Given the description of an element on the screen output the (x, y) to click on. 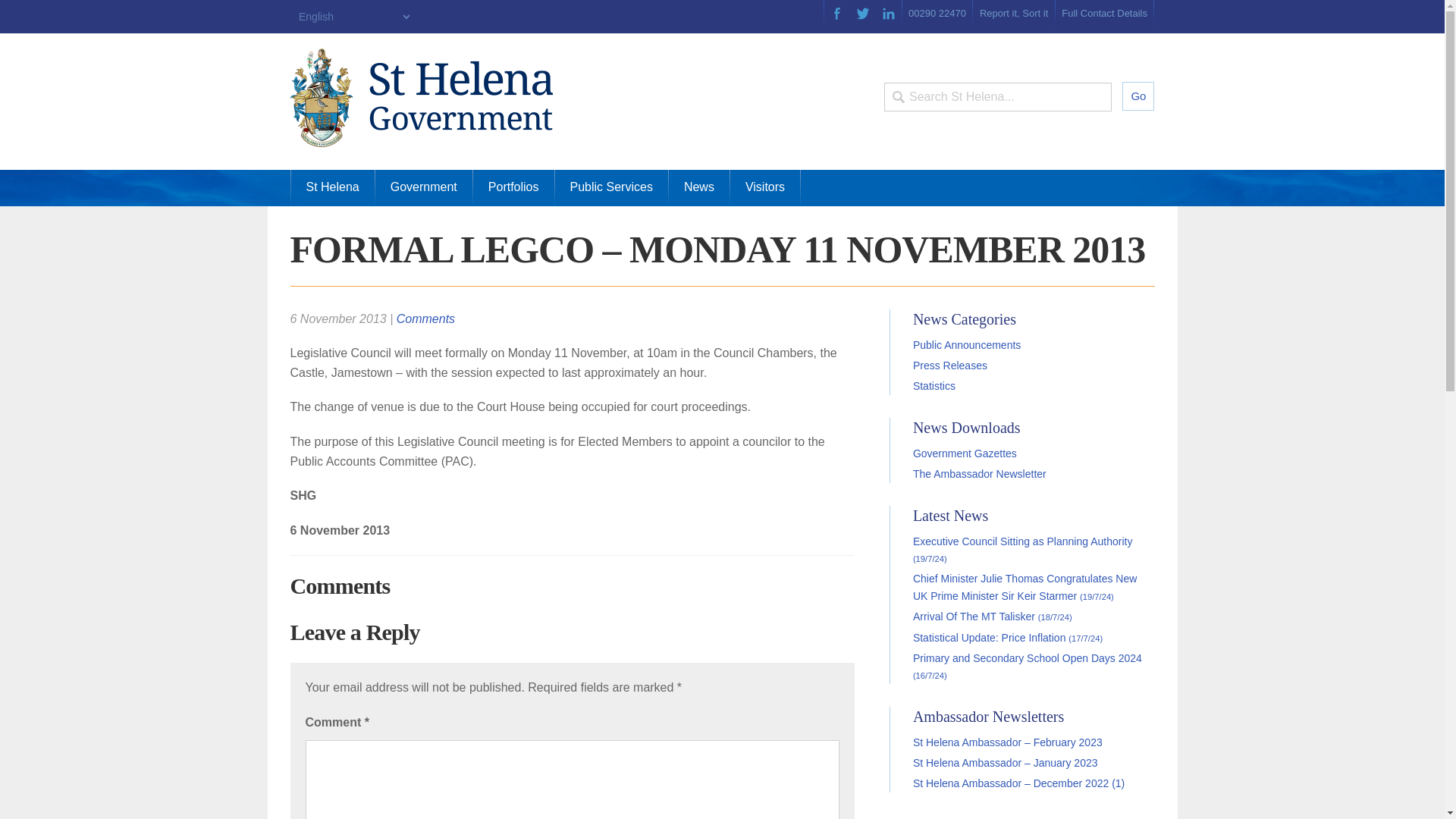
Go (1138, 95)
Permanent Link to Statistical Update: Price Inflation (1007, 636)
Go (1138, 95)
Permanent Link to Arrival Of The MT Talisker (991, 616)
